Given the description of an element on the screen output the (x, y) to click on. 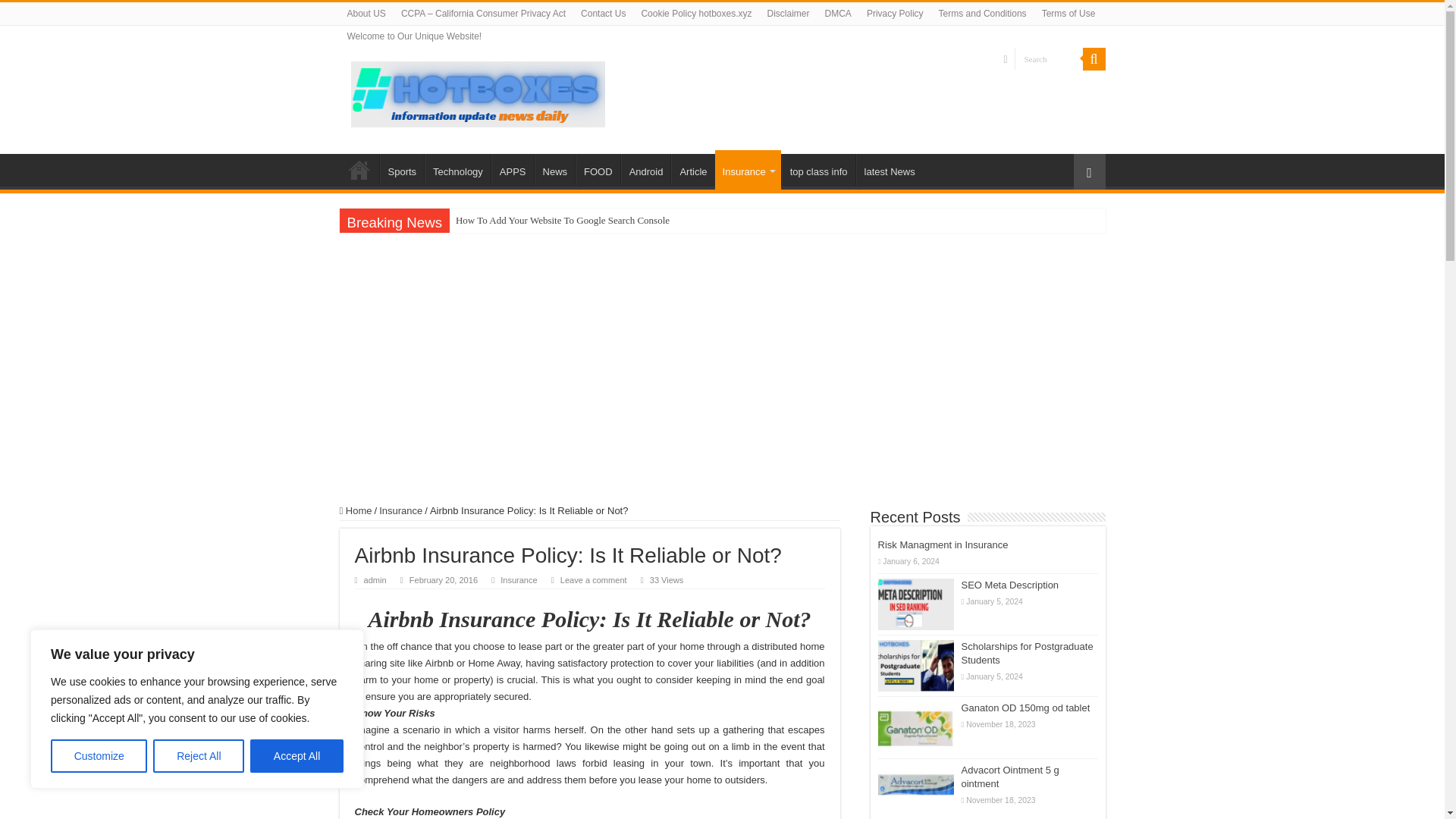
Cookie Policy hotboxes.xyz (695, 13)
Terms and Conditions (982, 13)
Reject All (198, 756)
Search (1048, 58)
Terms of Use (1068, 13)
Search (1048, 58)
Search (1048, 58)
Contact Us (603, 13)
Accept All (296, 756)
Privacy Policy (895, 13)
DMCA (837, 13)
hotboxes (477, 91)
Customize (98, 756)
About US (366, 13)
Disclaimer (788, 13)
